Given the description of an element on the screen output the (x, y) to click on. 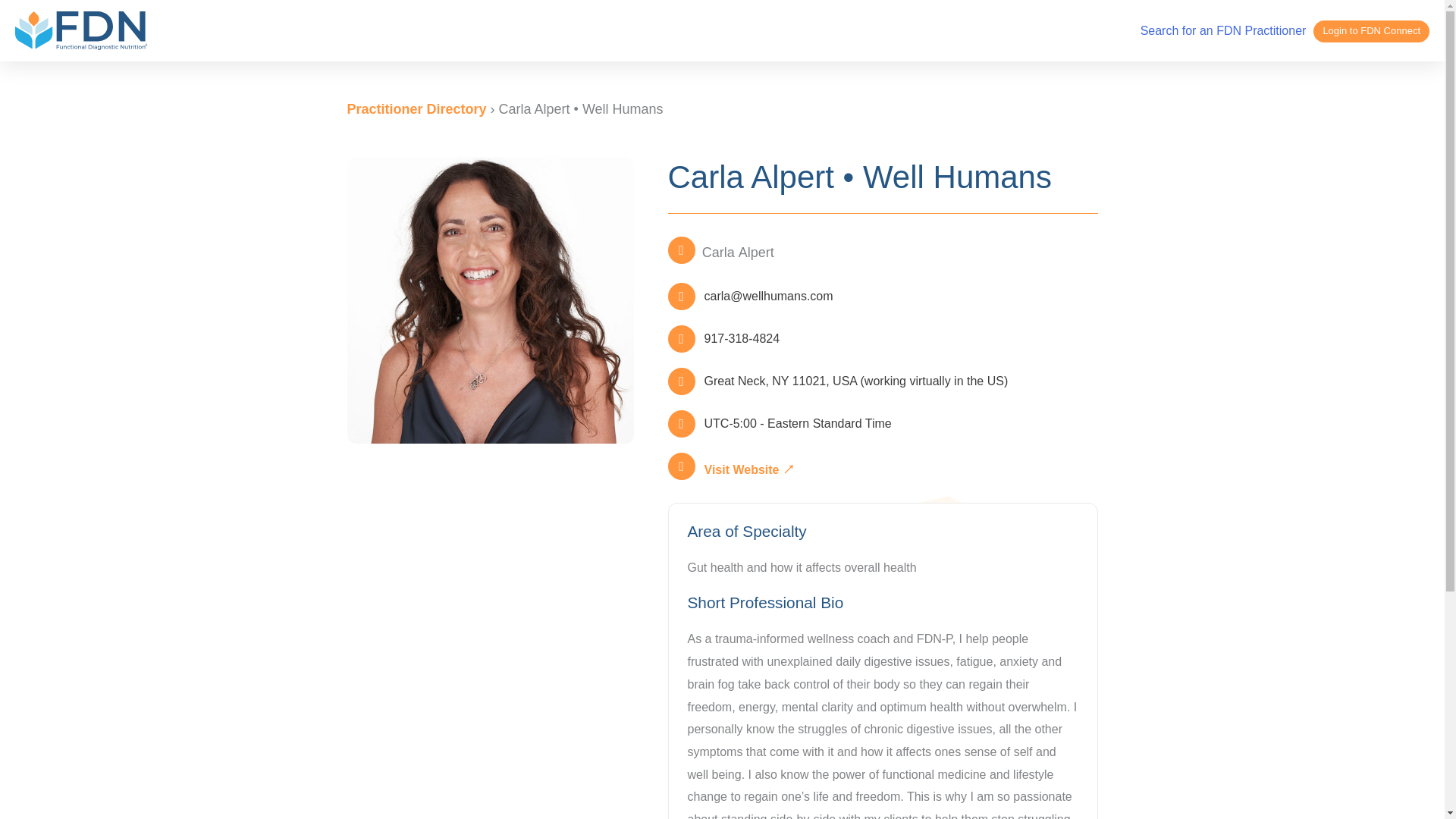
Practitioner Directory (416, 109)
Search for an FDN Practitioner (1223, 30)
Login to FDN Connect (1371, 31)
